Given the description of an element on the screen output the (x, y) to click on. 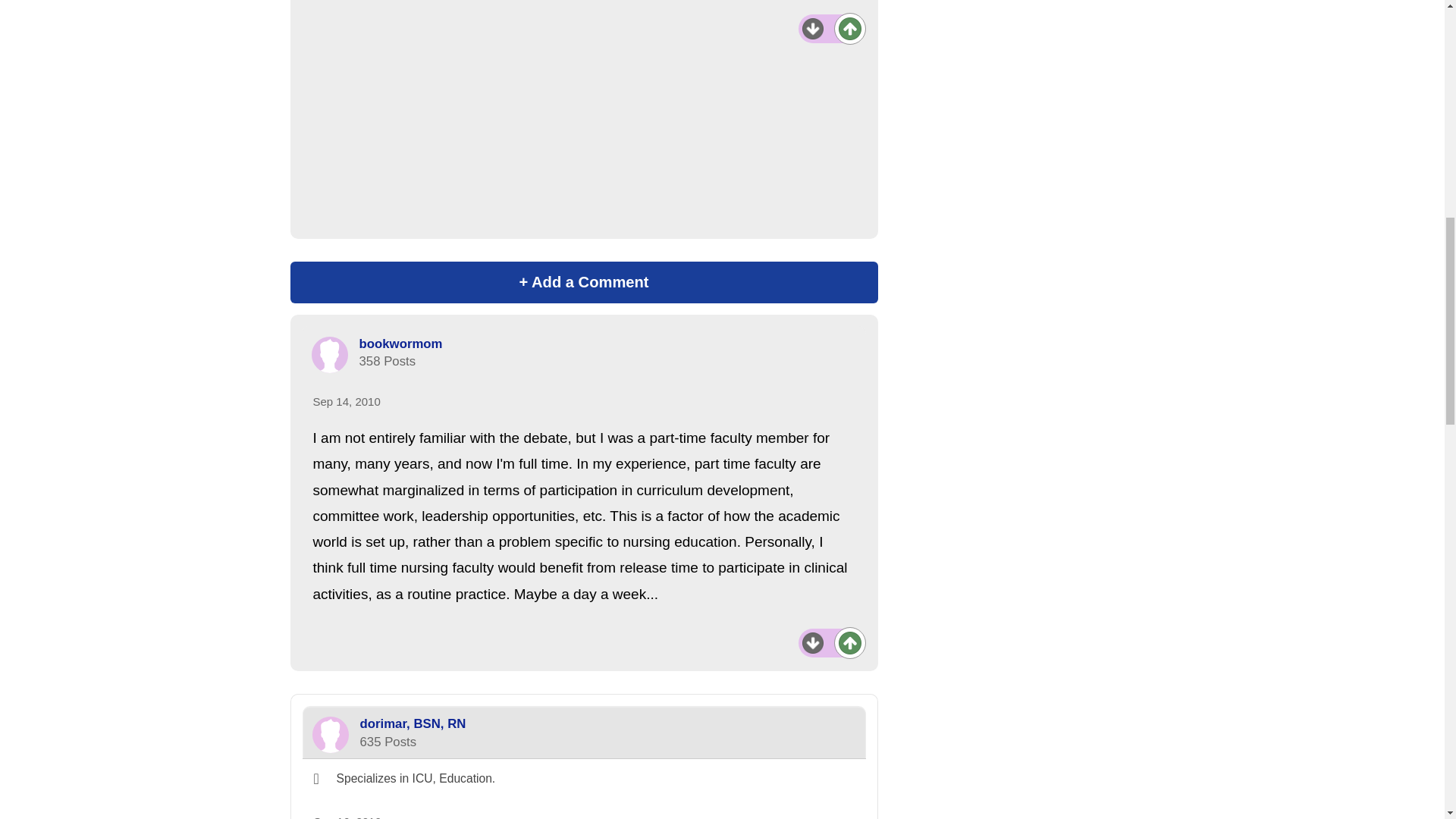
Go to bookwormom's profile (329, 354)
Down Vote (813, 28)
Up Vote (849, 28)
Go to bookwormom's profile (400, 343)
